Given the description of an element on the screen output the (x, y) to click on. 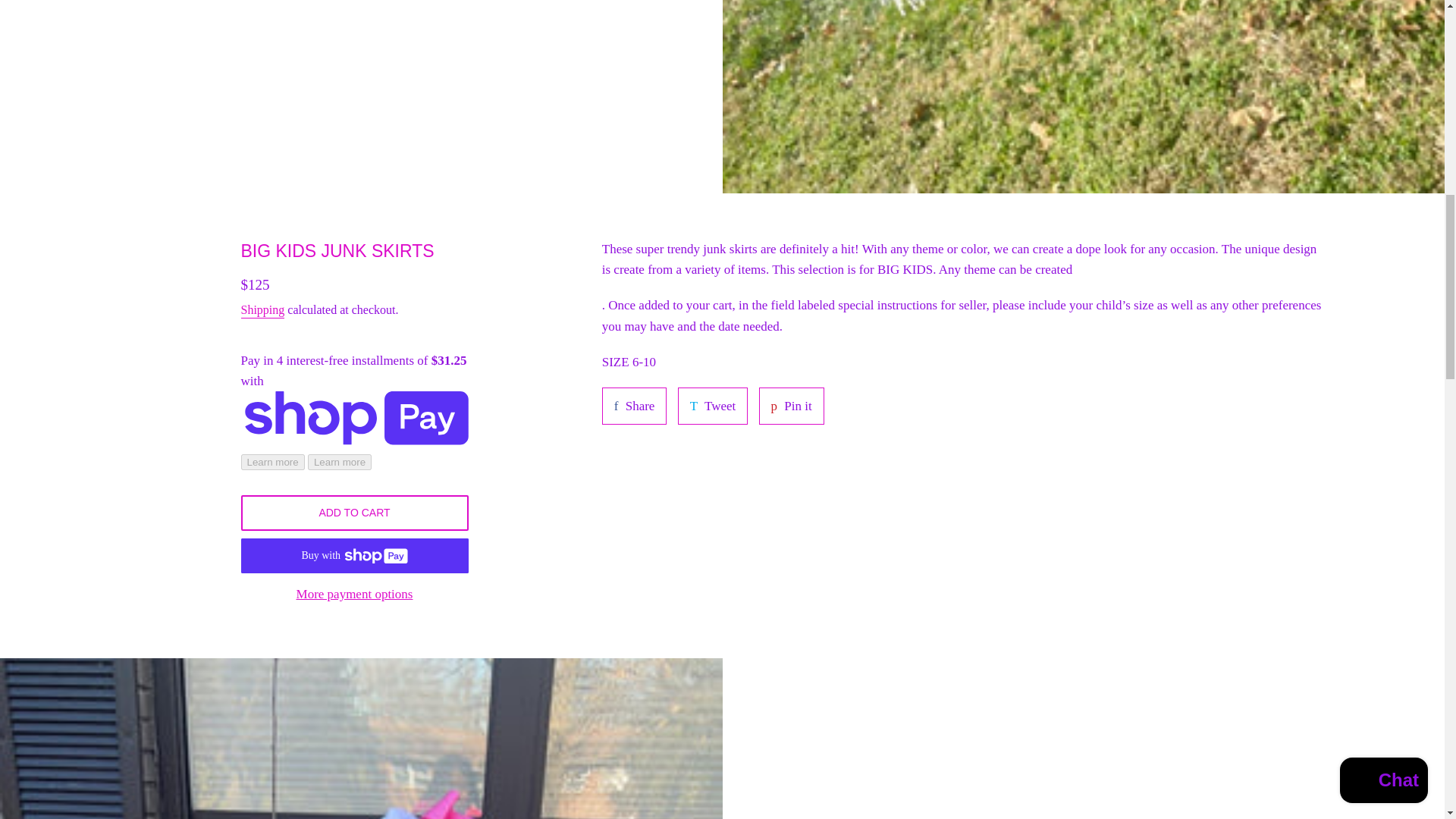
ADD TO CART (354, 512)
Share on Facebook (634, 406)
Pin on Pinterest (791, 406)
Shipping (791, 406)
More payment options (634, 406)
Tweet on Twitter (263, 310)
